Given the description of an element on the screen output the (x, y) to click on. 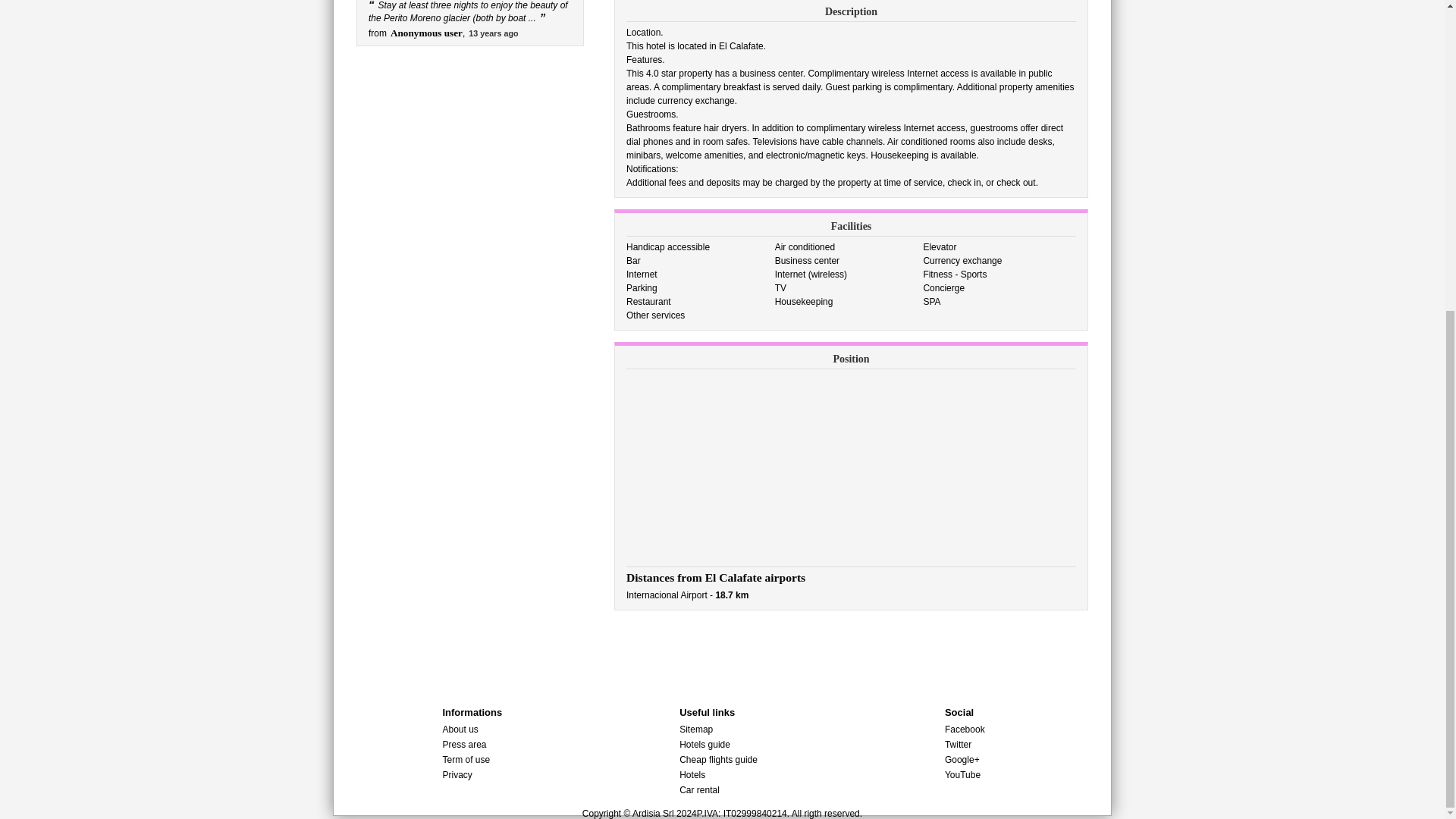
YouTube (961, 774)
About us (459, 728)
Cheap flights guide (718, 759)
Hotels guide (704, 744)
Facebook (964, 728)
Privacy (456, 774)
Sitemap (696, 728)
Term of use (465, 759)
Cheap flights guide (718, 759)
Site map (696, 728)
